Given the description of an element on the screen output the (x, y) to click on. 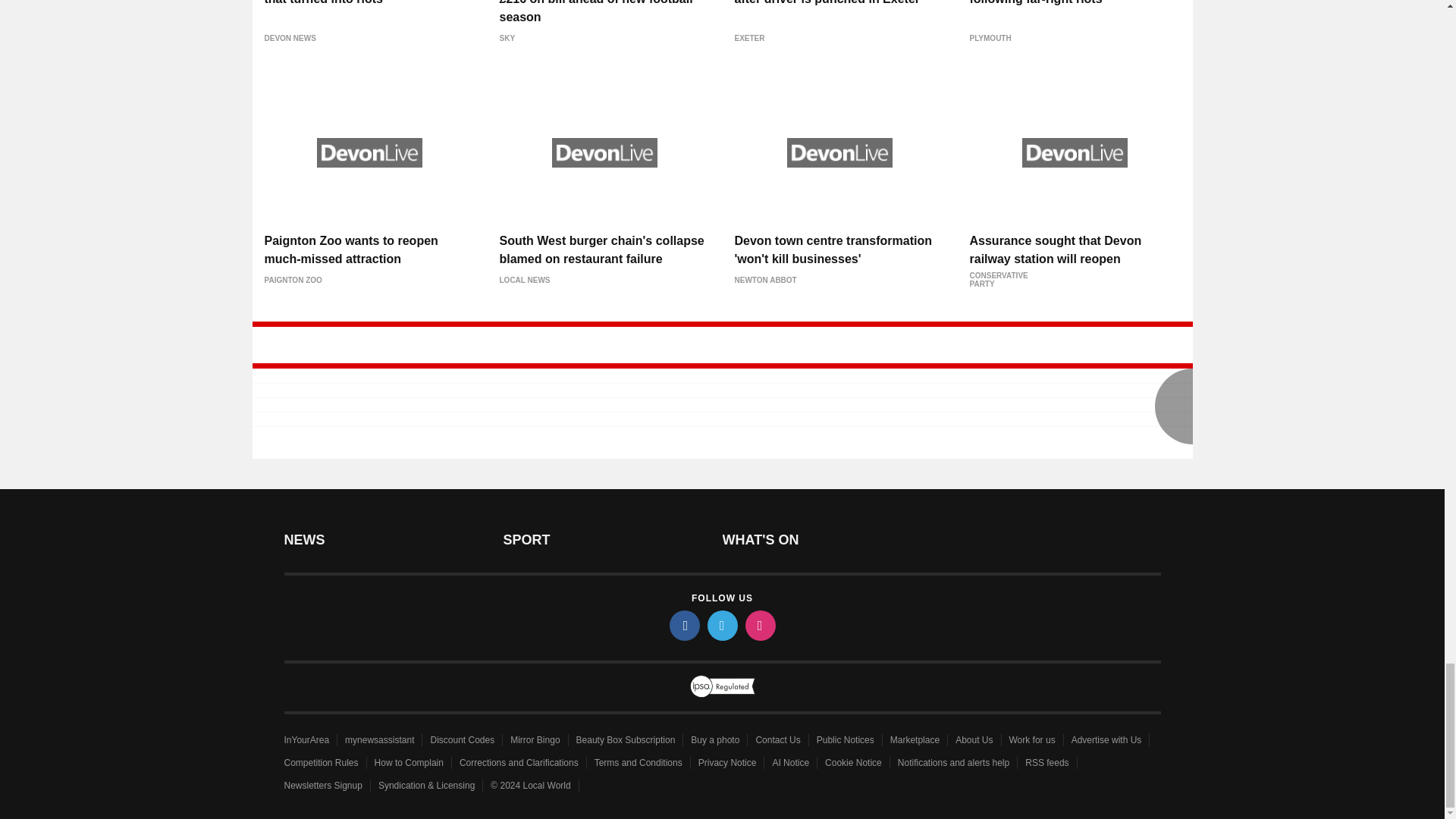
instagram (759, 625)
facebook (683, 625)
twitter (721, 625)
